Given the description of an element on the screen output the (x, y) to click on. 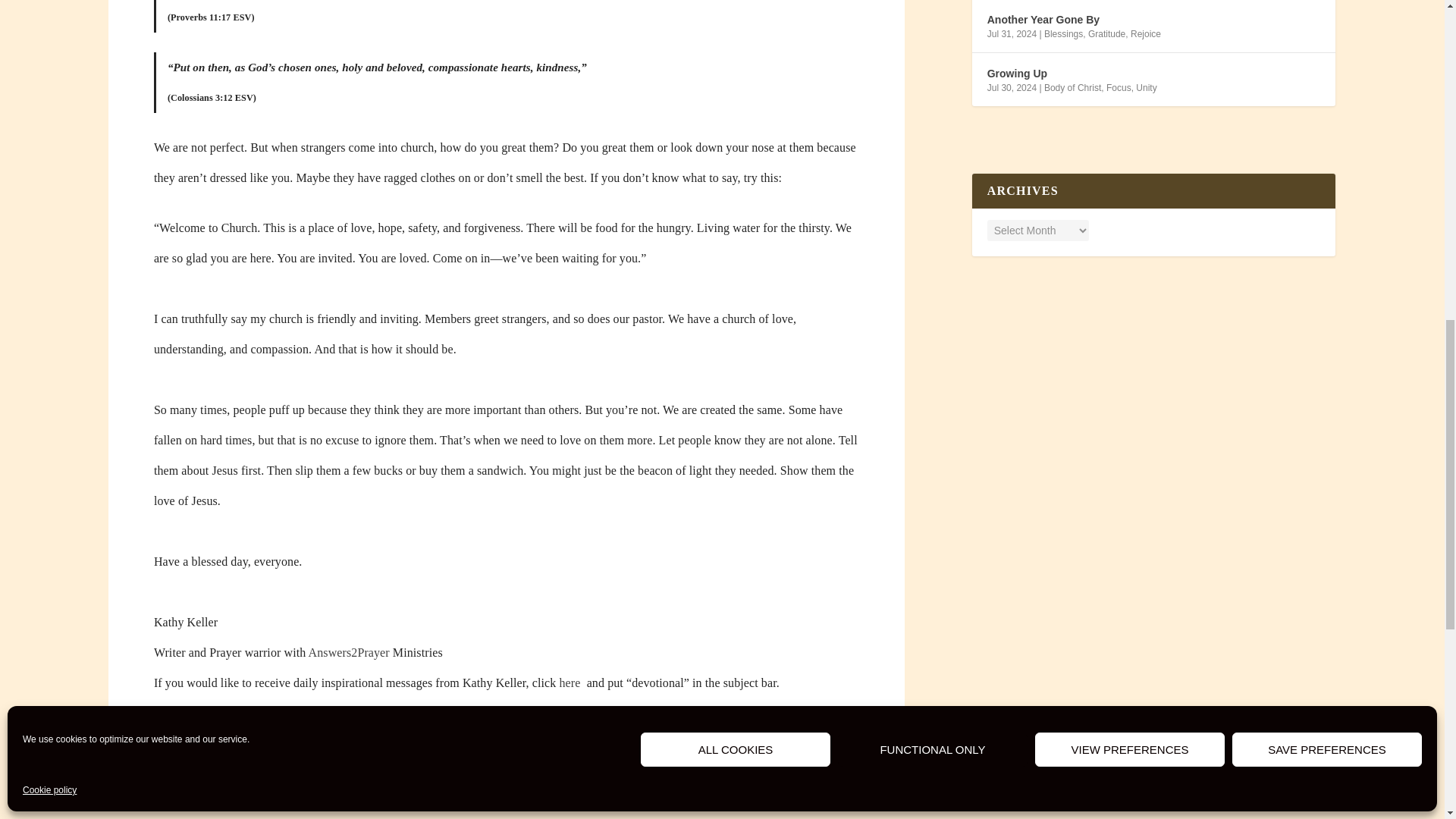
Answers2Prayer (349, 652)
here (569, 682)
